Given the description of an element on the screen output the (x, y) to click on. 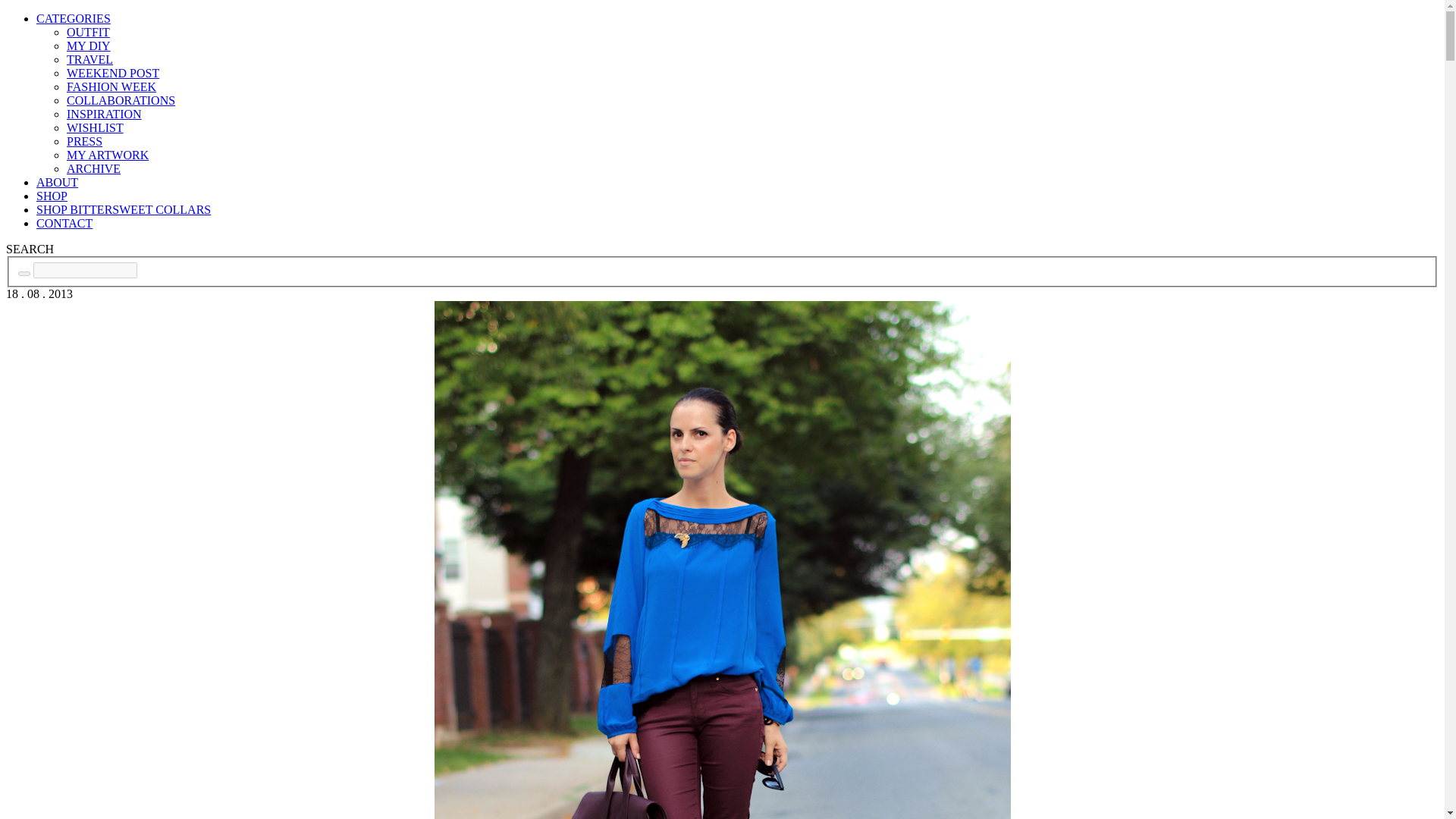
CATEGORIES (73, 18)
MY DIY (88, 45)
FASHION WEEK (110, 86)
CONTACT (64, 223)
PRESS (83, 141)
ABOUT (57, 182)
WEEKEND POST (112, 72)
WISHLIST (94, 127)
COLLABORATIONS (120, 100)
OUTFIT (88, 31)
ARCHIVE (93, 168)
MY ARTWORK (107, 154)
TRAVEL (89, 59)
SHOP BITTERSWEET COLLARS (123, 209)
